Given the description of an element on the screen output the (x, y) to click on. 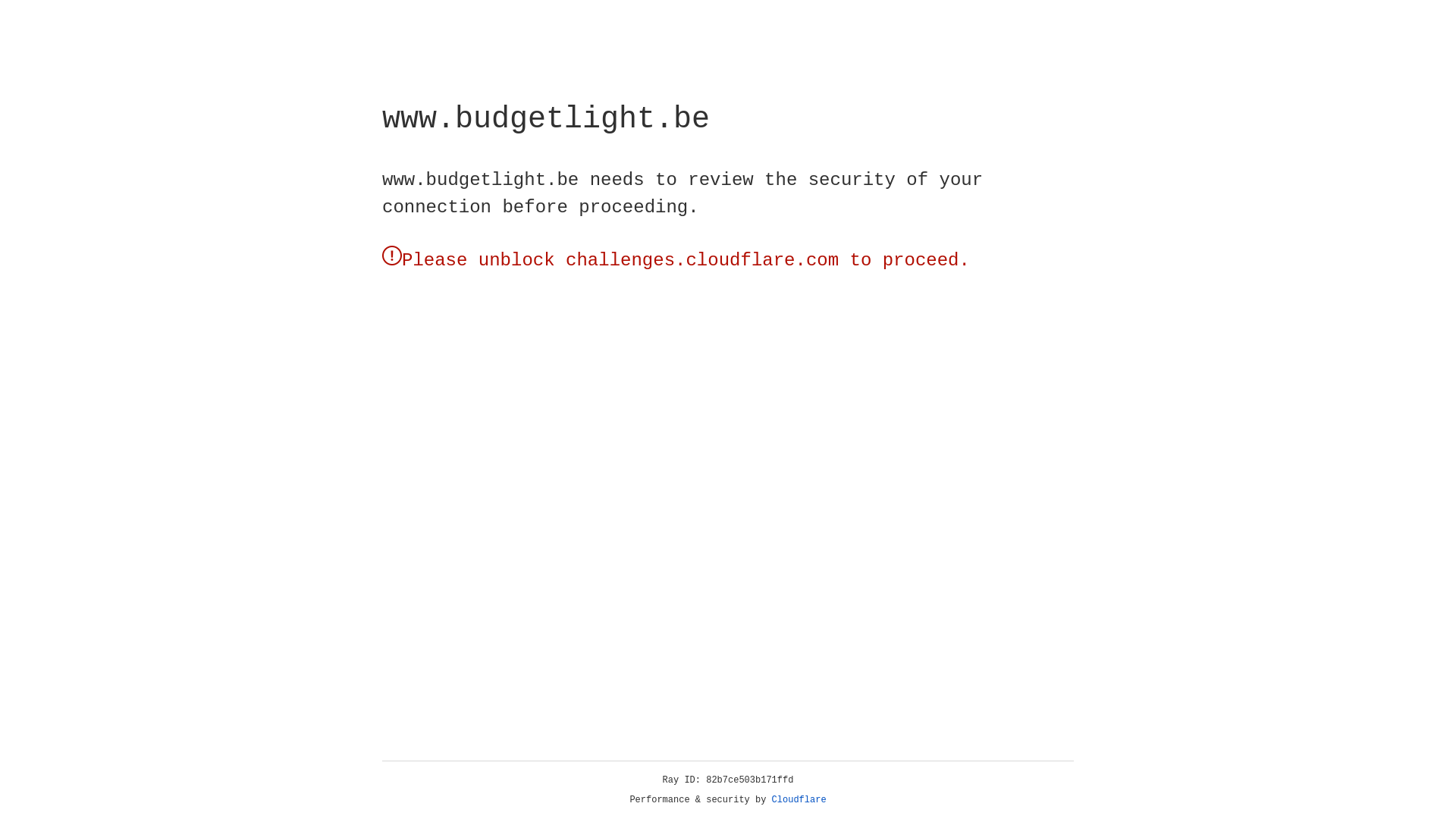
Cloudflare Element type: text (798, 799)
